Given the description of an element on the screen output the (x, y) to click on. 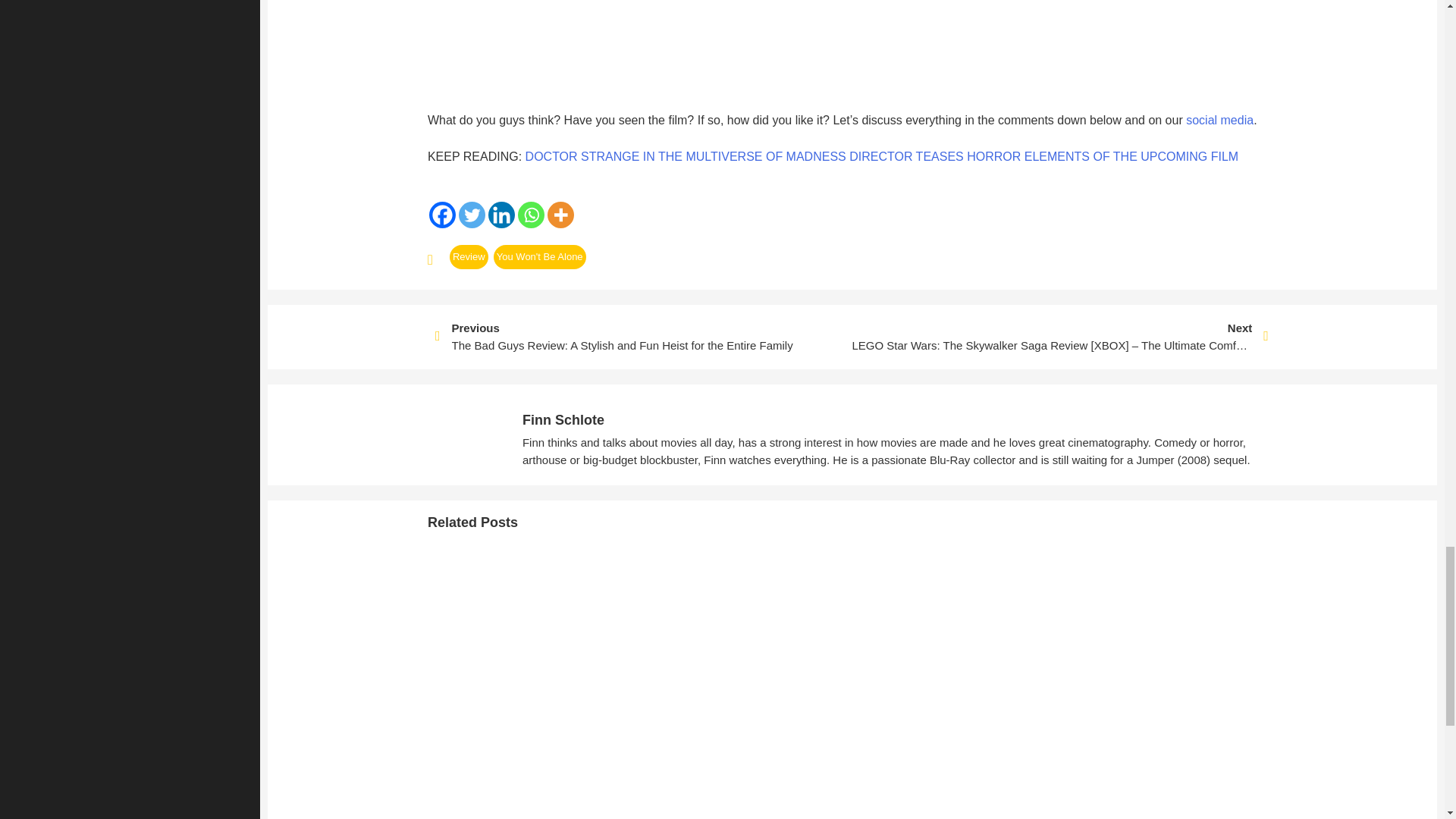
Linkedin (501, 214)
Twitter (471, 214)
Facebook (442, 214)
More (560, 214)
Whatsapp (531, 214)
